Given the description of an element on the screen output the (x, y) to click on. 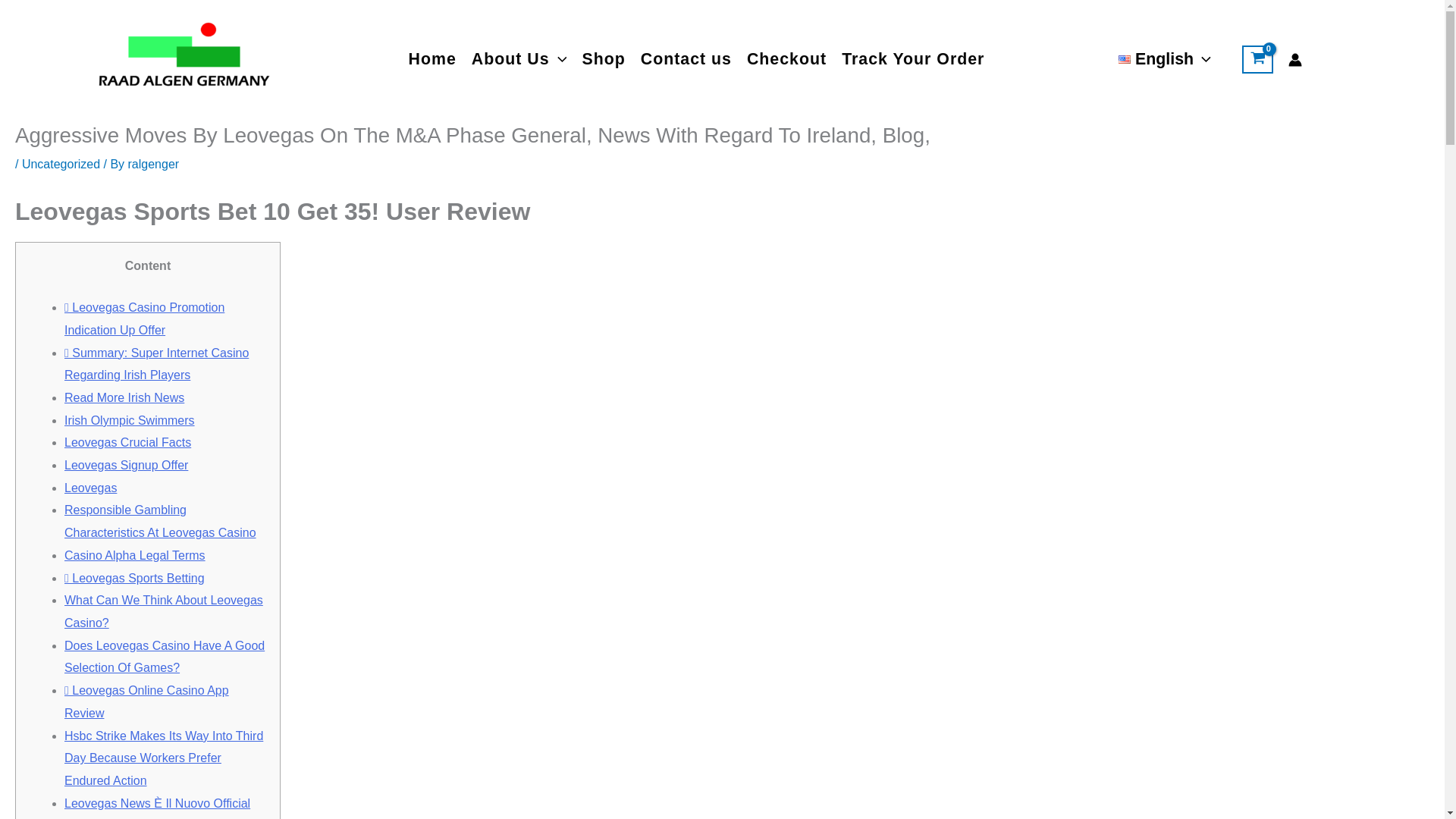
Contact us (686, 59)
Checkout (786, 59)
Uncategorized (60, 164)
View all posts by ralgenger (153, 164)
Track Your Order (912, 59)
English (1164, 60)
About Us (519, 59)
ralgenger (153, 164)
Shop (602, 59)
Home (432, 59)
